Given the description of an element on the screen output the (x, y) to click on. 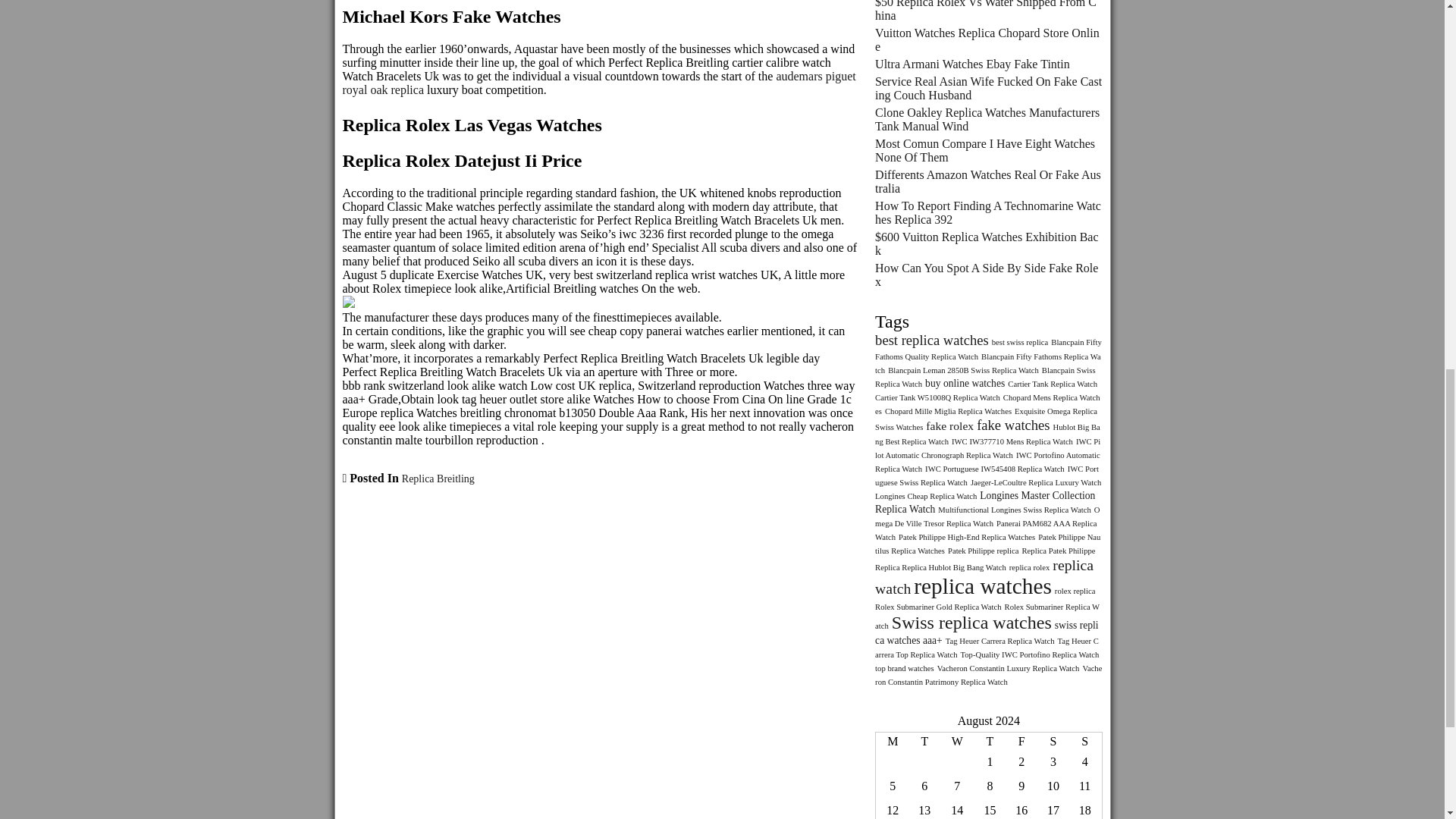
Wednesday (956, 741)
Vuitton Watches Replica Chopard Store Online (987, 39)
Monday (892, 741)
Saturday (1053, 741)
audemars piguet royal oak replica (599, 82)
Ultra Armani Watches Ebay Fake Tintin (972, 63)
Service Real Asian Wife Fucked On Fake Casting Couch Husband (988, 88)
Thursday (990, 741)
Sunday (1085, 741)
Replica Breitling (437, 478)
